Given the description of an element on the screen output the (x, y) to click on. 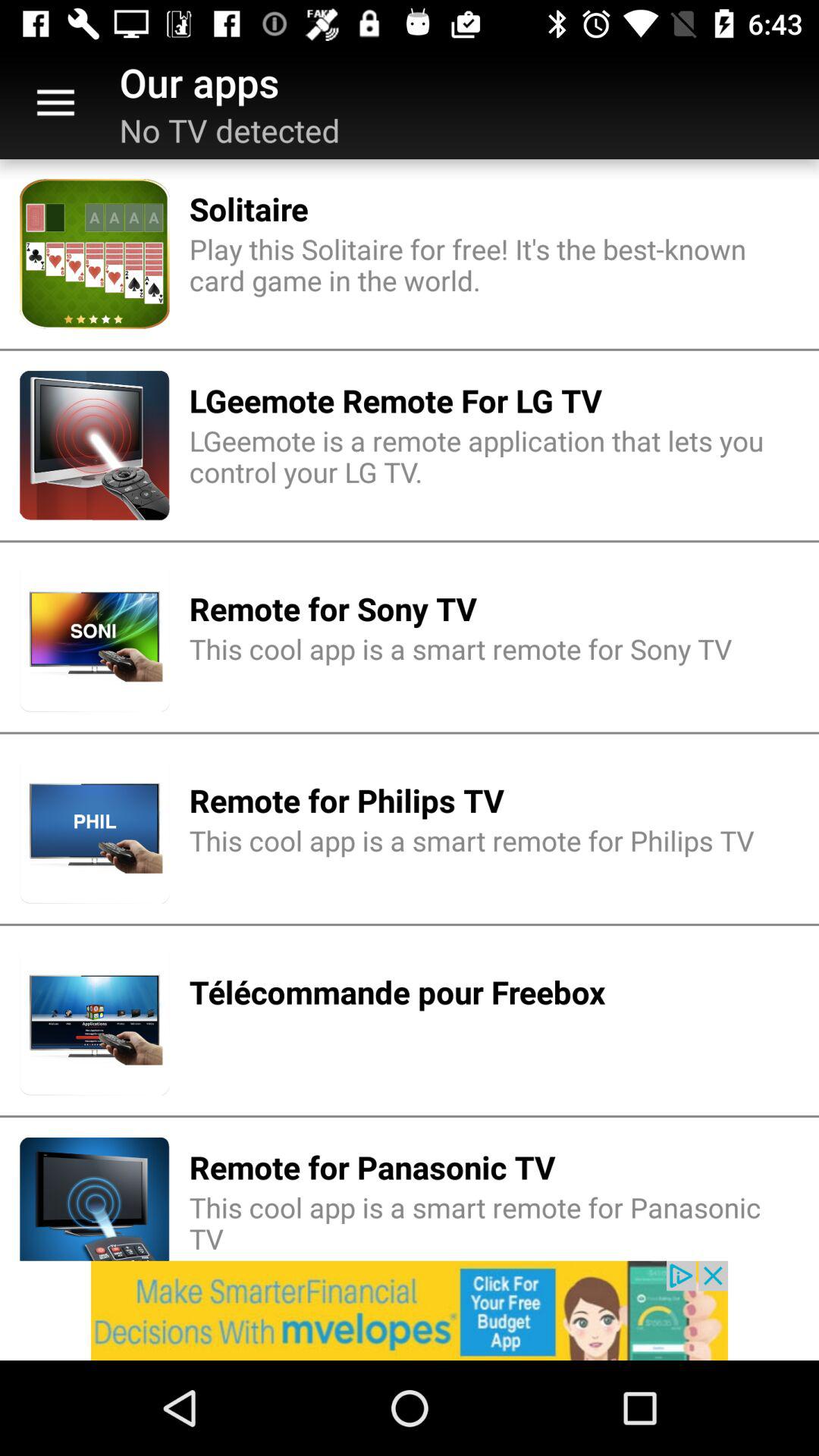
advertisement link (409, 1310)
